Given the description of an element on the screen output the (x, y) to click on. 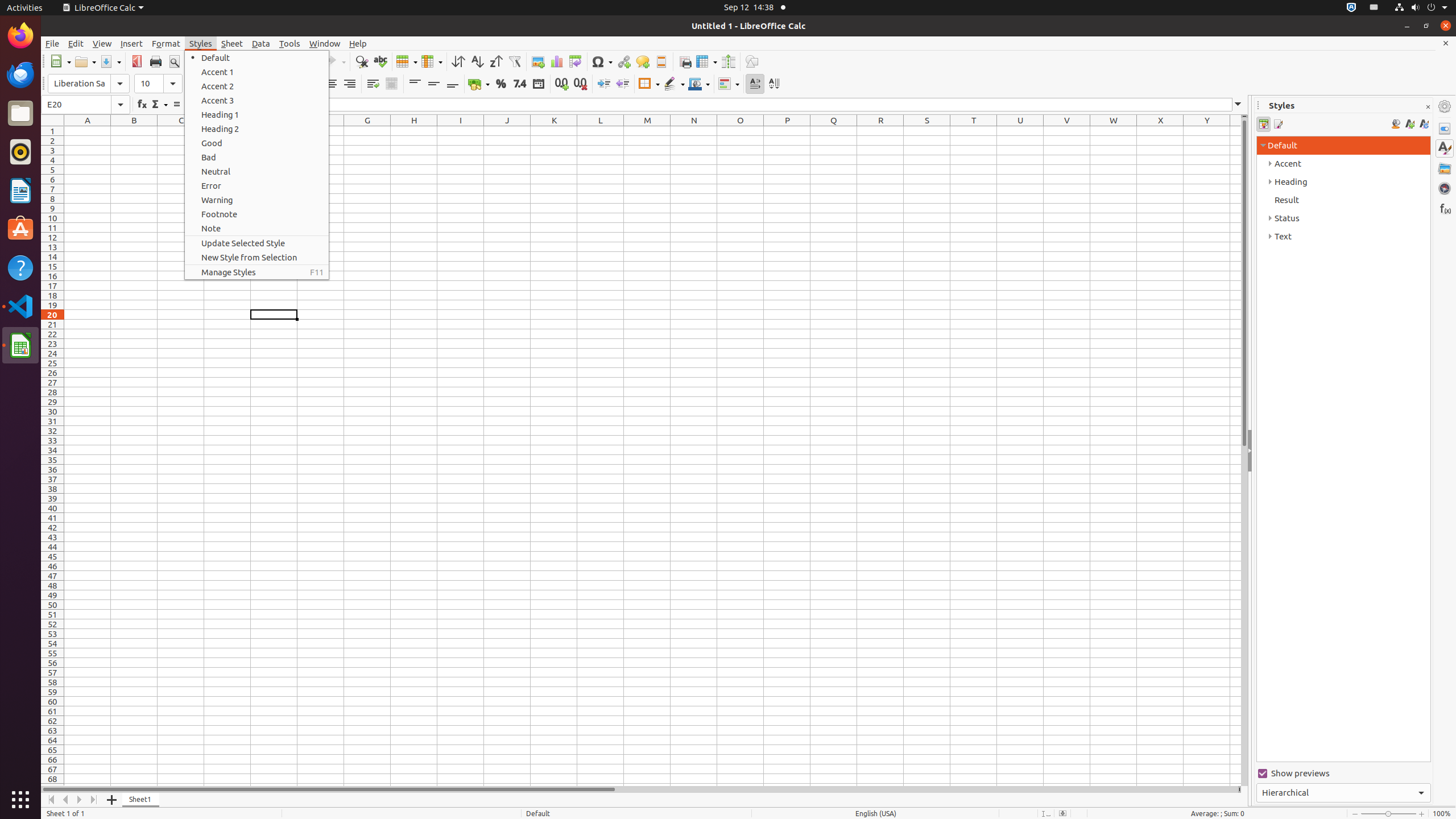
Text direction from left to right Element type: toggle-button (754, 83)
Hyperlink Element type: toggle-button (623, 61)
New Style from Selection Element type: push-button (1409, 123)
Navigator Element type: radio-button (1444, 188)
J1 Element type: table-cell (507, 130)
